Given the description of an element on the screen output the (x, y) to click on. 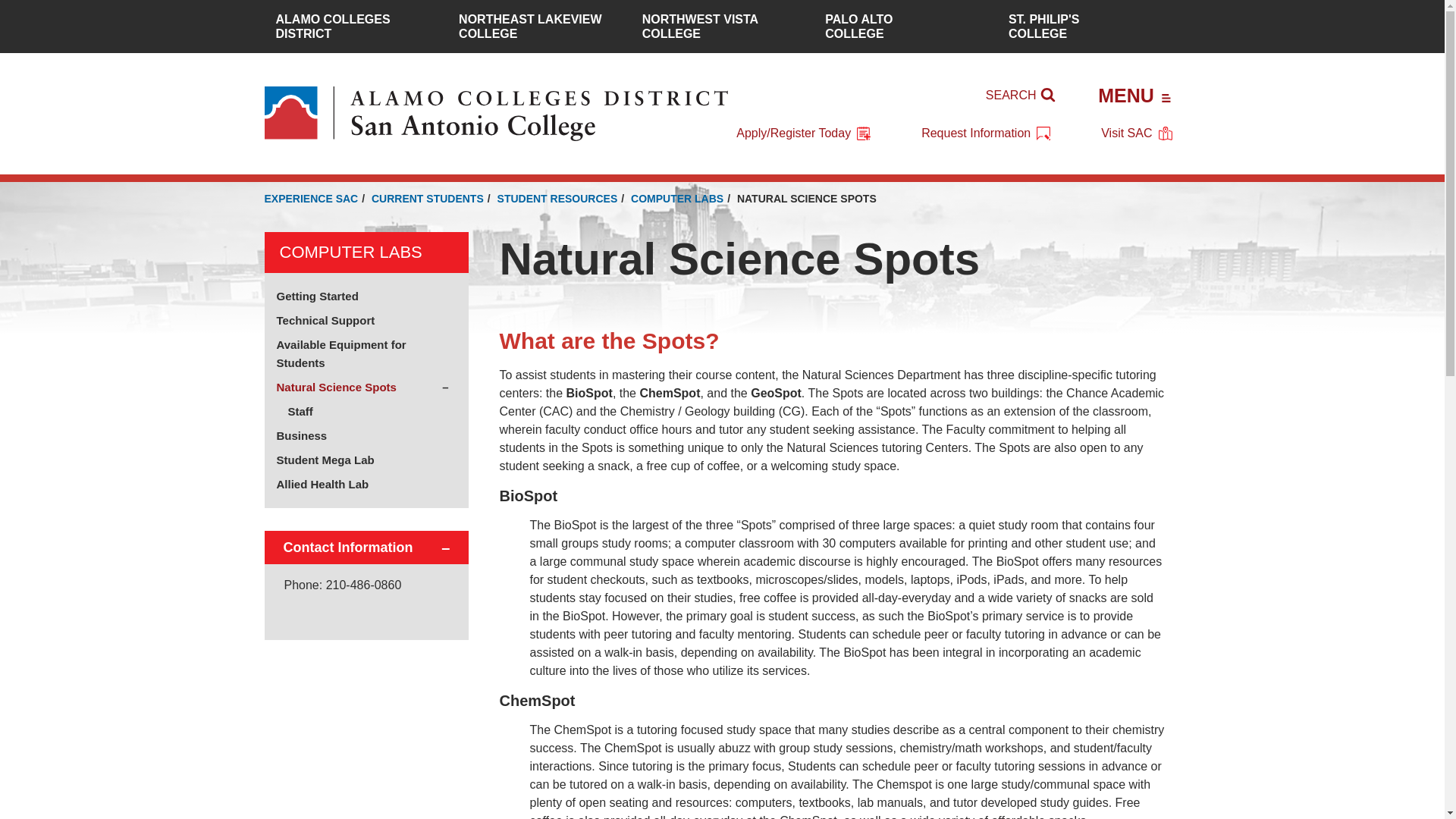
MENU (1134, 95)
Request Information (538, 26)
Visit SAC (985, 132)
